Given the description of an element on the screen output the (x, y) to click on. 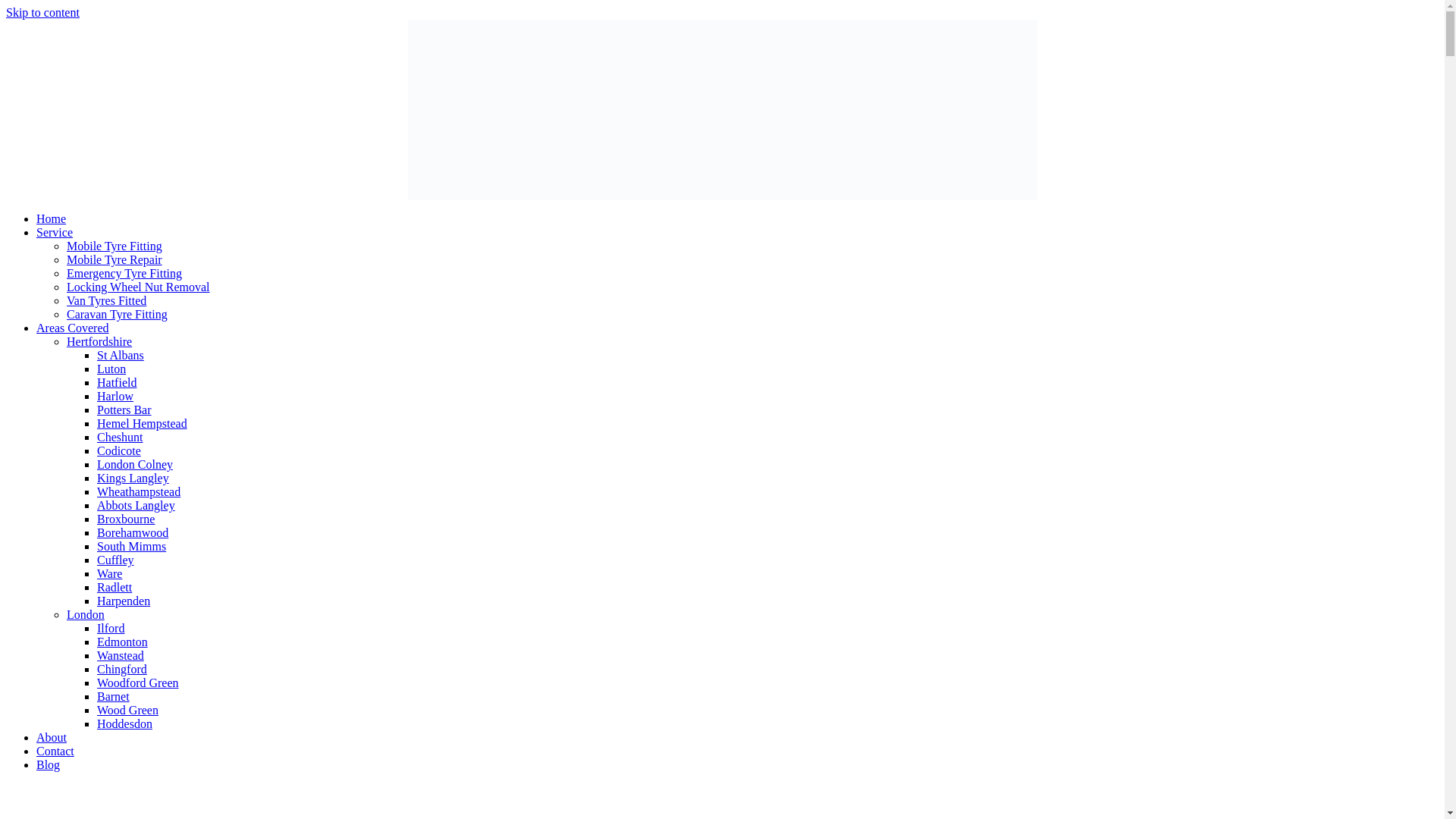
Harpenden (123, 600)
Kings Langley (132, 477)
Skip to content (42, 11)
Wanstead (120, 655)
South Mimms (131, 545)
Woodford Green (138, 682)
Codicote (119, 450)
Locking Wheel Nut Removal (137, 286)
Borehamwood (132, 532)
Potters Bar (124, 409)
